Given the description of an element on the screen output the (x, y) to click on. 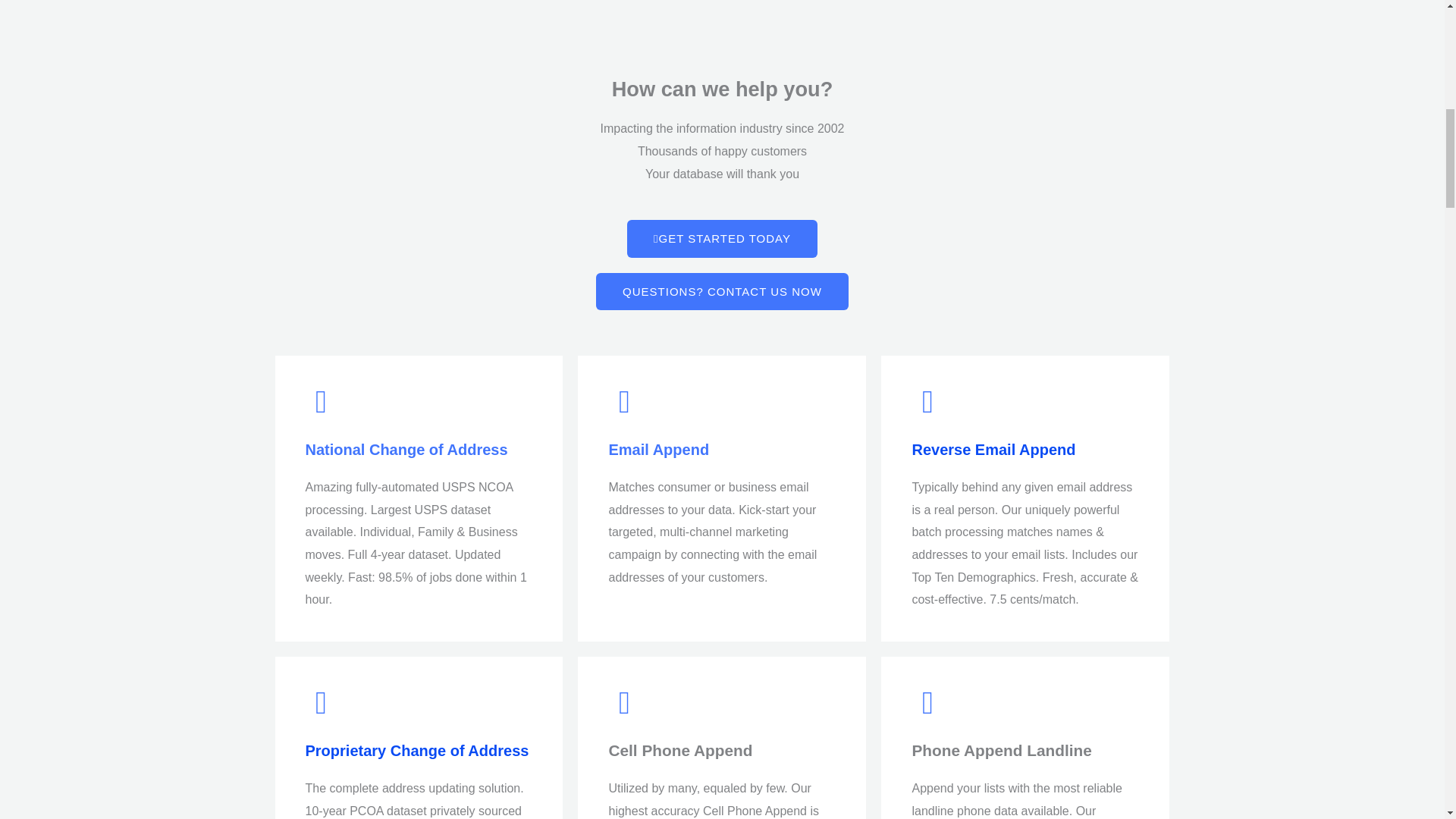
National Change of Address (405, 449)
Proprietary Change of Address (416, 750)
GET STARTED TODAY (721, 238)
QUESTIONS? CONTACT US NOW (721, 291)
Reverse Email Append (993, 449)
Email Append (658, 449)
